Given the description of an element on the screen output the (x, y) to click on. 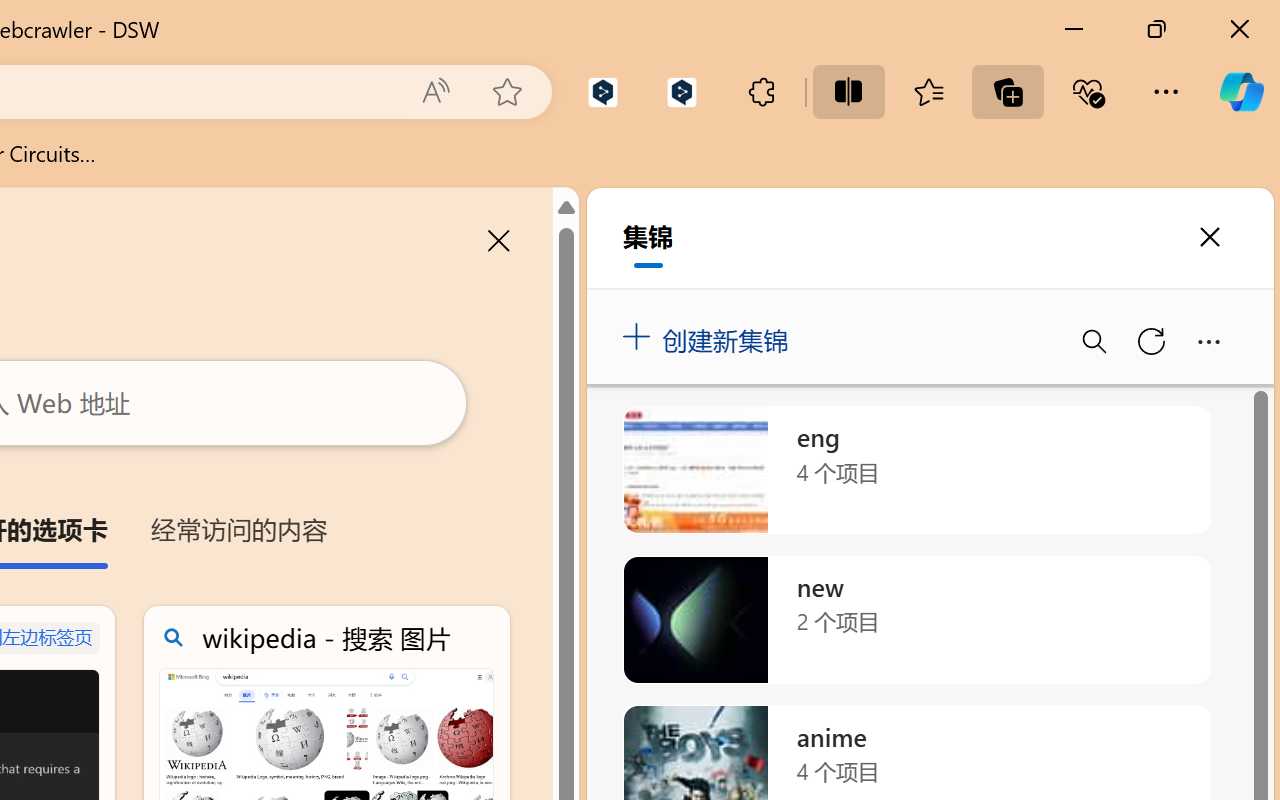
Copilot (Ctrl+Shift+.) (1241, 91)
